Given the description of an element on the screen output the (x, y) to click on. 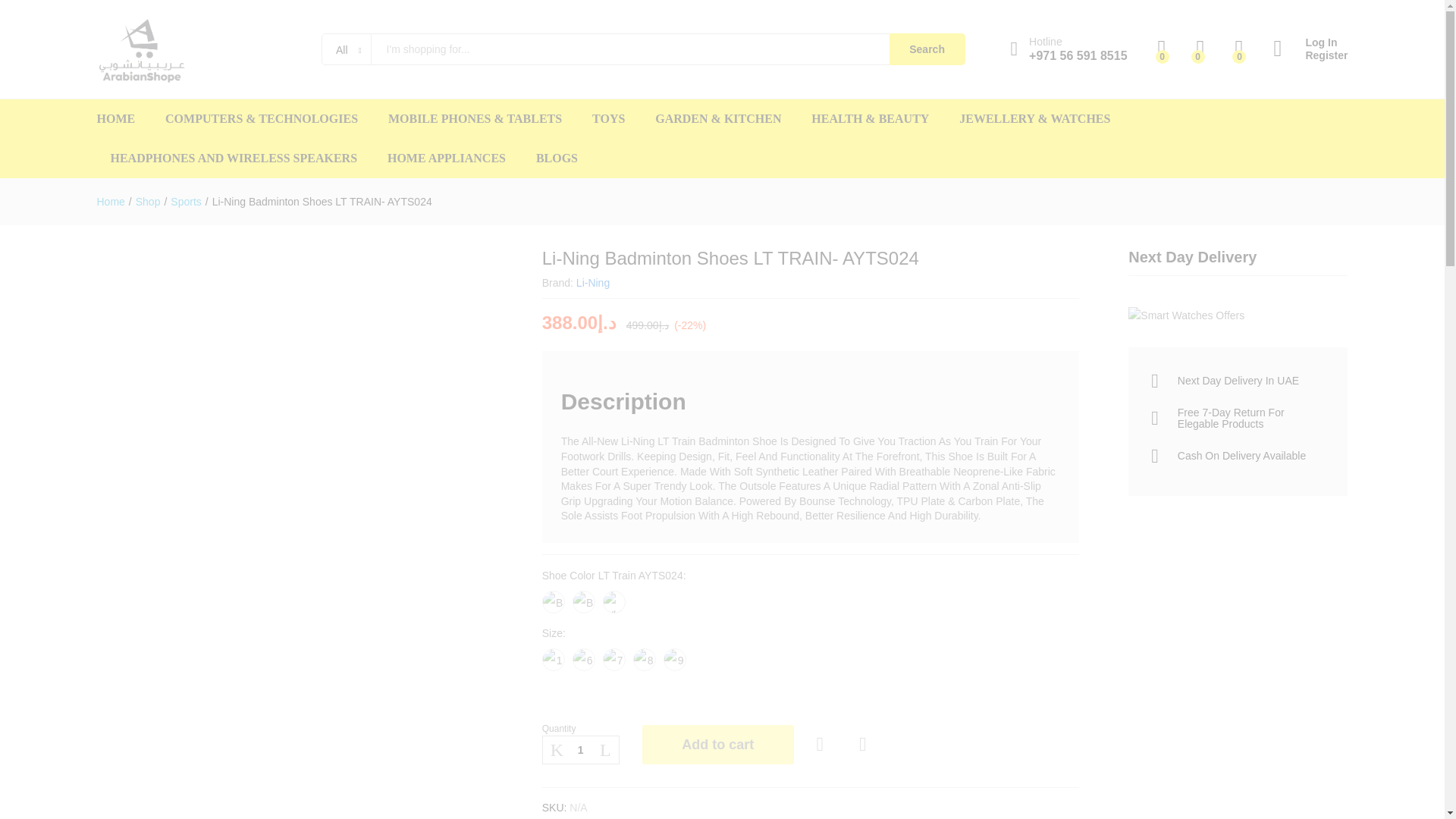
Sports (185, 201)
10 UK (552, 659)
HEADPHONES AND WIRELESS SPEAKERS (234, 158)
Register (1310, 55)
Blue (583, 601)
Add to wishlist (821, 744)
8 UK (644, 659)
6 UK (583, 659)
Qty (580, 749)
Li-Ning Badminton Shoes LT TRAIN- AYTS024 (322, 201)
Compare (863, 744)
HOME (116, 119)
Log In (1310, 42)
white (614, 601)
7 UK (614, 659)
